Given the description of an element on the screen output the (x, y) to click on. 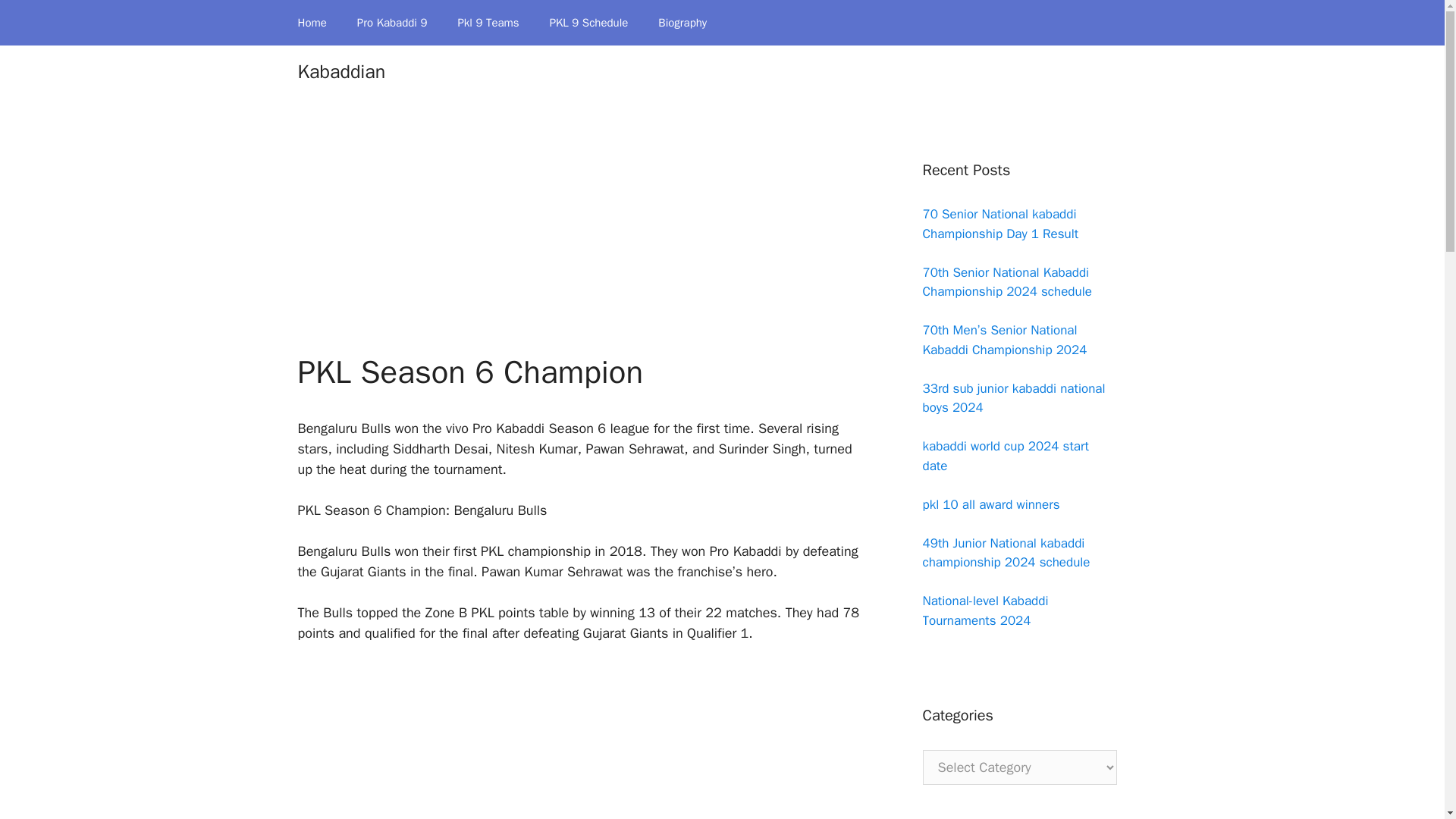
Pro Kabaddi 9 (392, 22)
pkl 10 all award winners (990, 503)
National-level Kabaddi Tournaments 2024 (984, 610)
Advertisement (579, 241)
Pkl 9 Teams (488, 22)
PKL 9 Schedule (588, 22)
kabaddi world cup 2024 start date (1004, 456)
33rd sub junior kabaddi national boys 2024 (1013, 398)
Kabaddian (341, 71)
Advertisement (579, 741)
Biography (682, 22)
49th Junior National kabaddi championship 2024 schedule (1005, 552)
Home (311, 22)
70 Senior National kabaddi Championship Day 1 Result (999, 223)
70th Senior National Kabaddi Championship 2024 schedule (1005, 281)
